Given the description of an element on the screen output the (x, y) to click on. 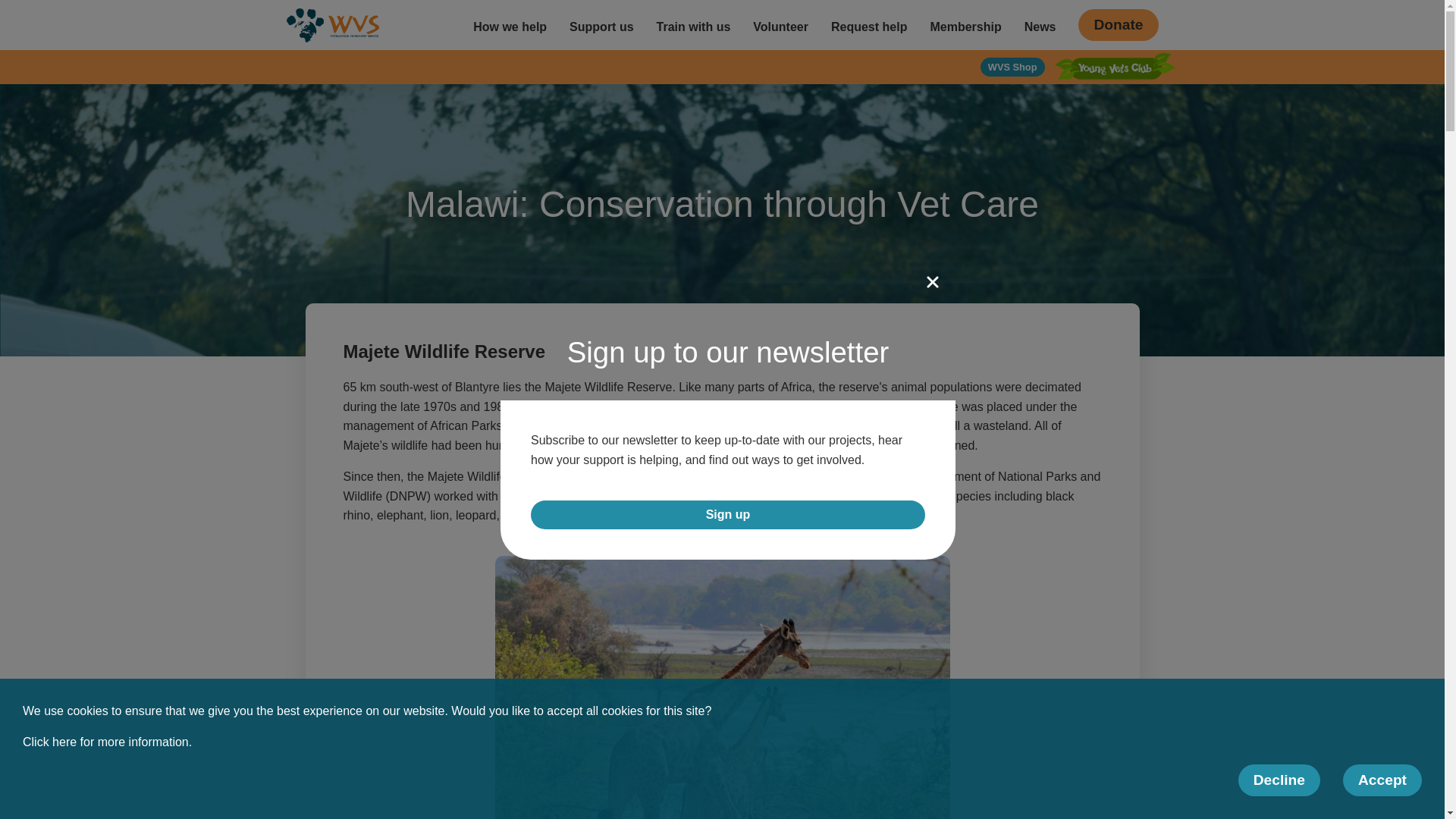
Support us (601, 24)
Train with us (693, 24)
WVS Shop (1012, 66)
Donate (1117, 24)
How we help (510, 24)
Volunteer (780, 24)
Support us (601, 24)
Young Vets Club (1114, 67)
Volunteer (780, 24)
How we help (510, 24)
Membership (965, 24)
Membership (965, 24)
Request help (869, 24)
Sign up (727, 514)
Train with us (693, 24)
